Given the description of an element on the screen output the (x, y) to click on. 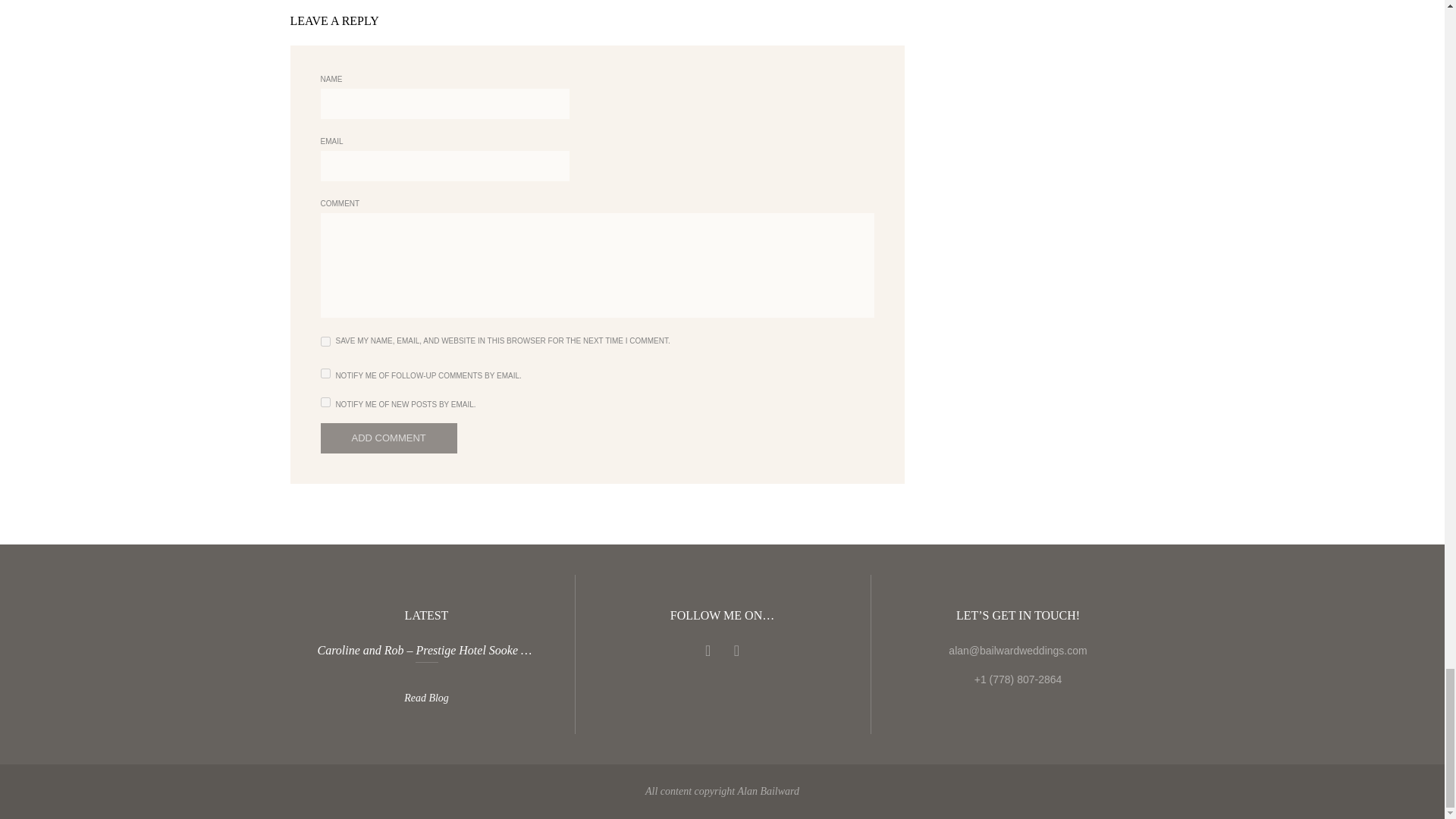
Read Blog (426, 697)
subscribe (325, 373)
Add comment (388, 438)
subscribe (325, 402)
Add comment (388, 438)
Read more (426, 655)
yes (325, 341)
